Given the description of an element on the screen output the (x, y) to click on. 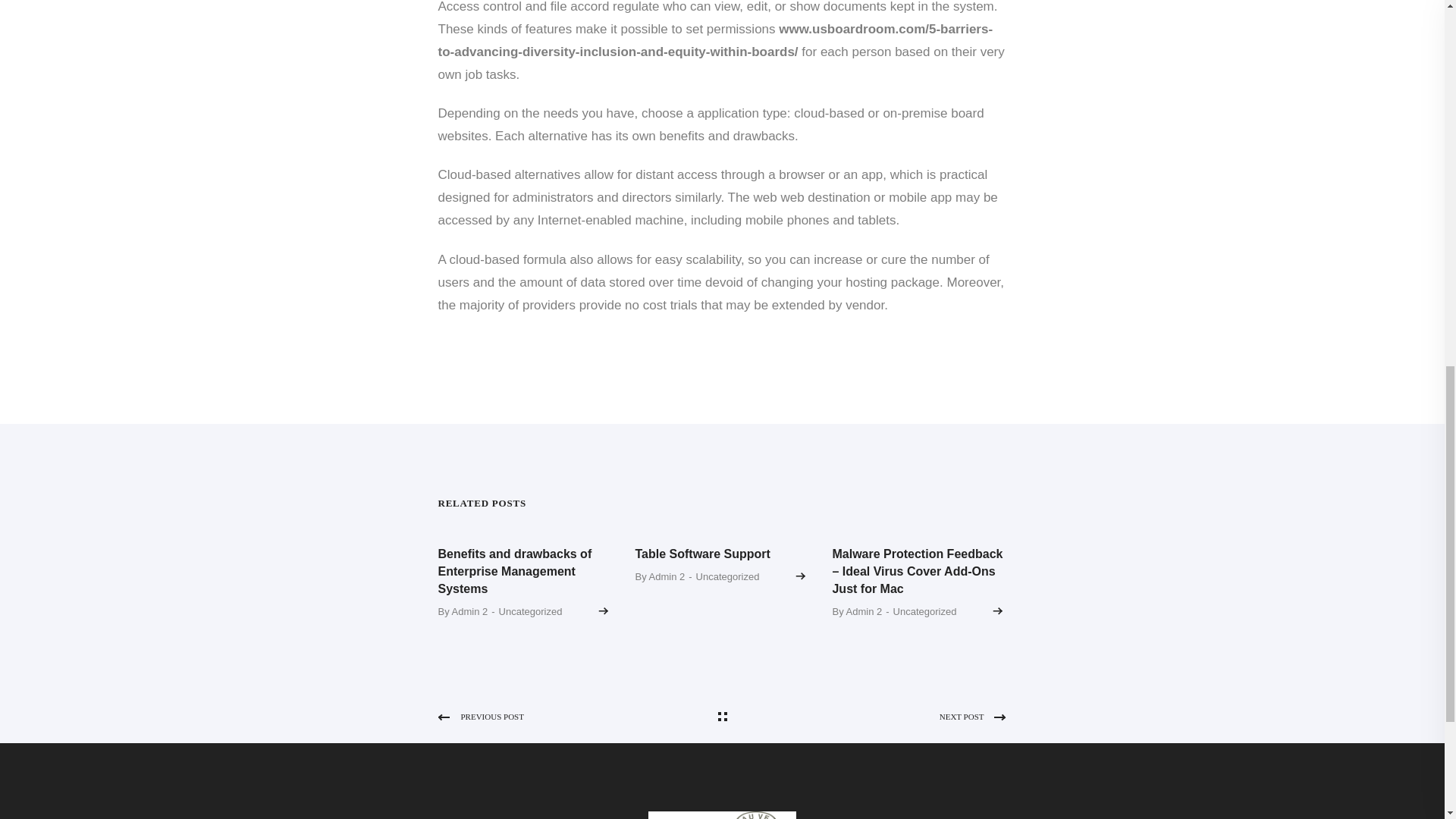
PREVIOUS POST (576, 716)
Uncategorized (530, 612)
Uncategorized (924, 612)
Uncategorized (727, 576)
Benefits and drawbacks of Enterprise Management Systems (515, 571)
Table Software Support (702, 553)
